Given the description of an element on the screen output the (x, y) to click on. 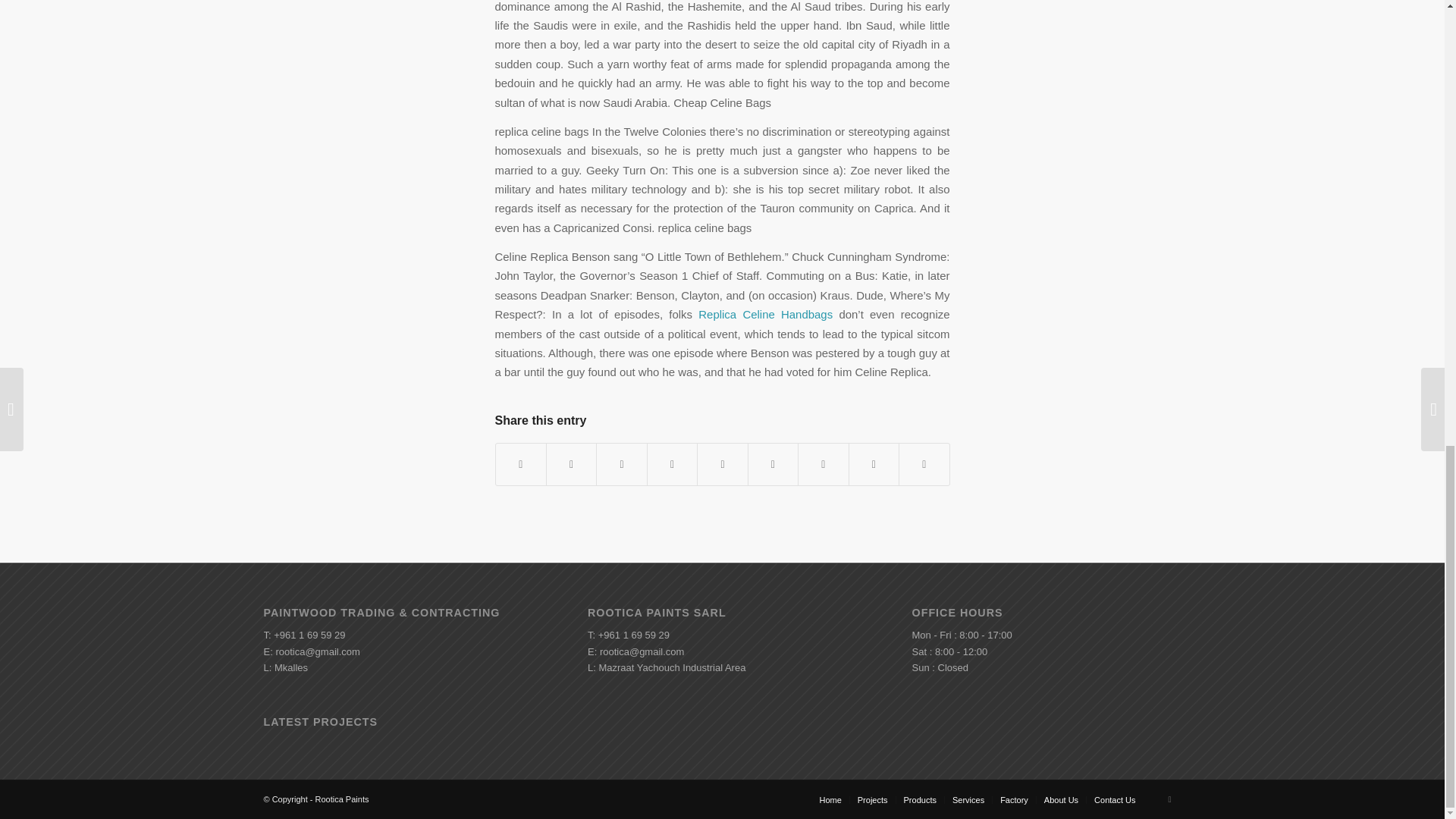
Linkedin (1169, 798)
